Given the description of an element on the screen output the (x, y) to click on. 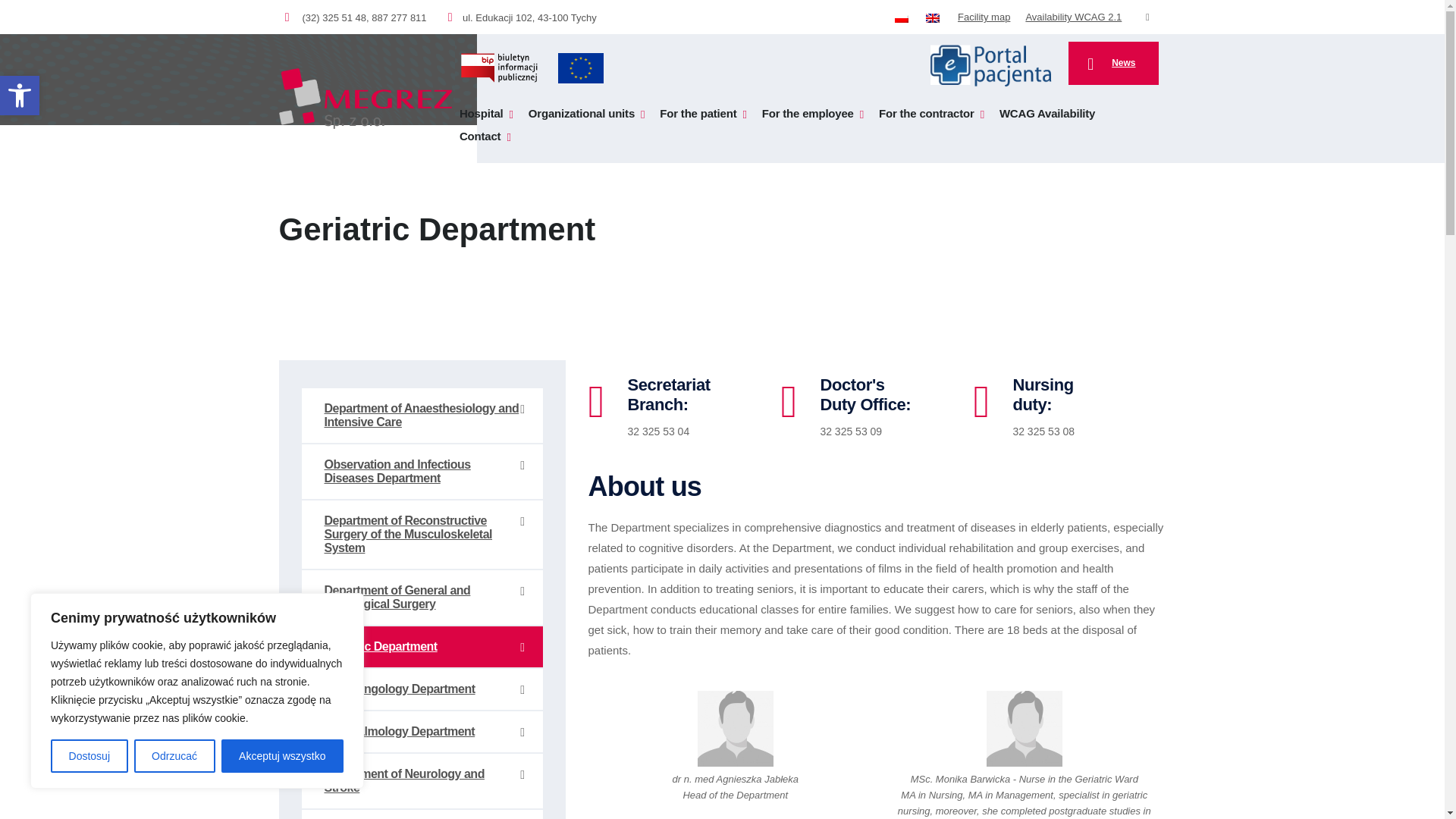
Availability WCAG 2.1 (1073, 16)
Hospital (486, 97)
Facility map (984, 16)
News (1112, 63)
Akceptuj wszystko (282, 756)
szukaj (1147, 16)
szpitalmegrez.pl (365, 97)
Dostosuj (89, 756)
